Given the description of an element on the screen output the (x, y) to click on. 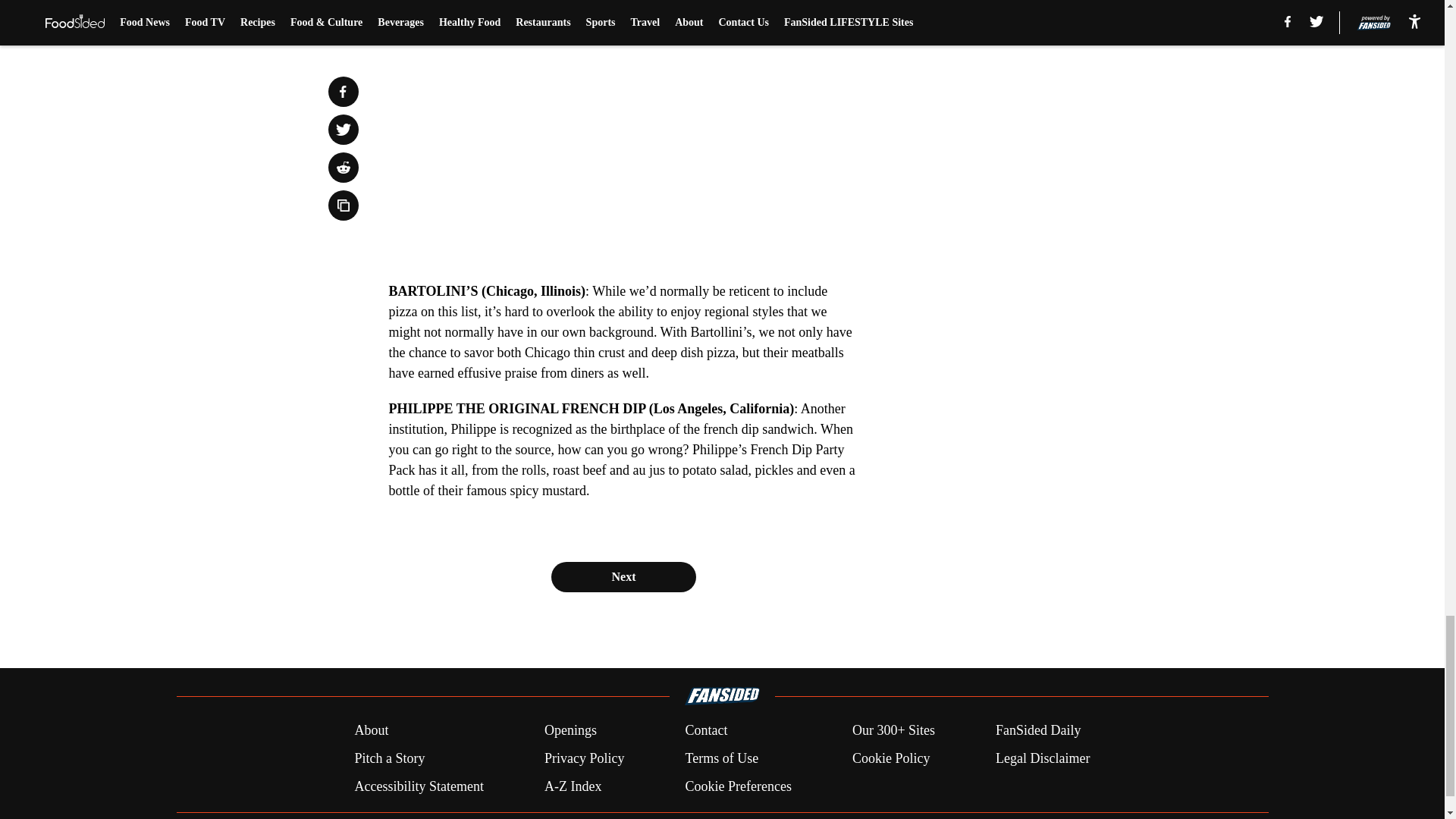
Contact (705, 730)
About (370, 730)
Next (622, 576)
Openings (570, 730)
